Given the description of an element on the screen output the (x, y) to click on. 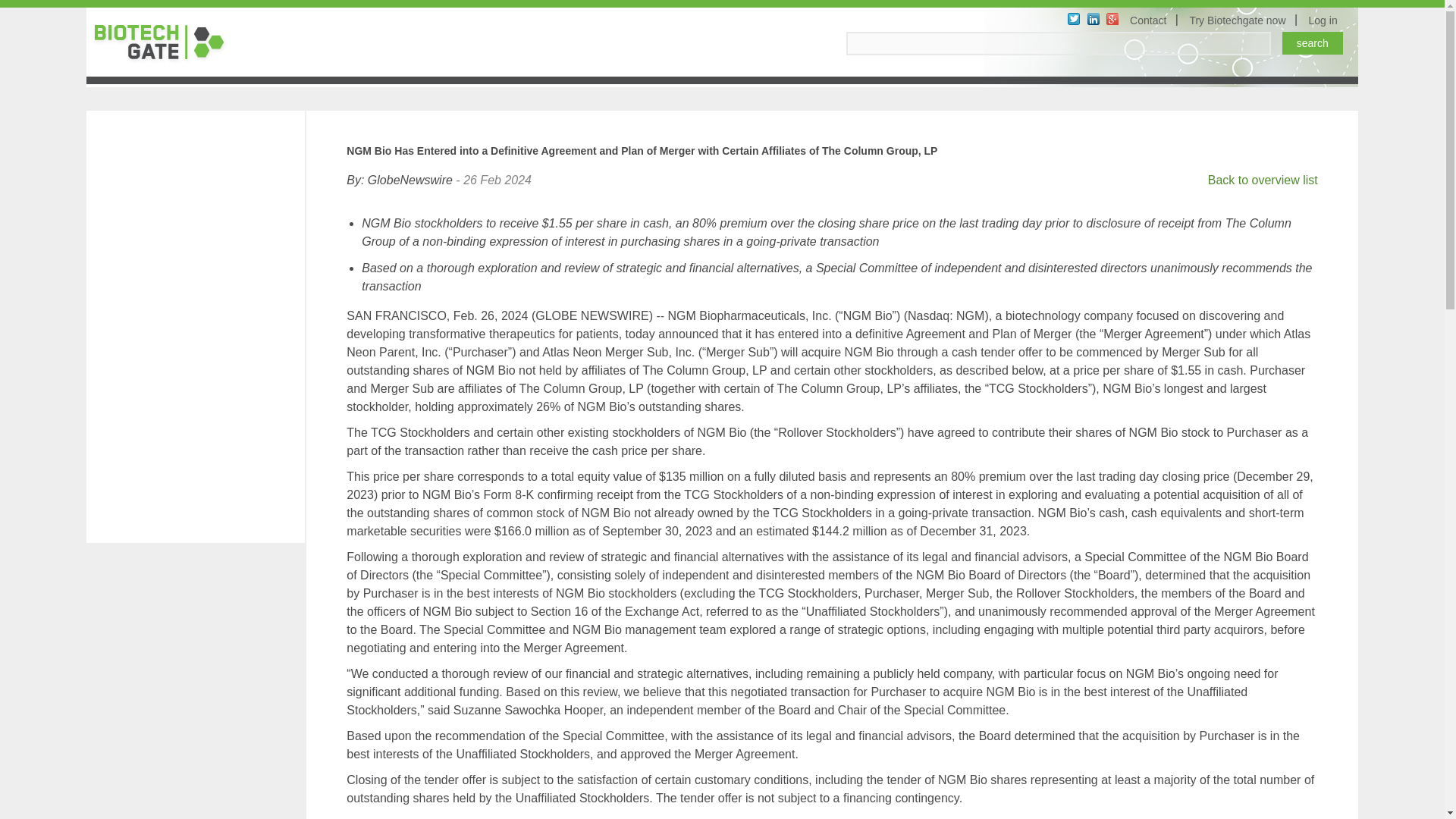
Biotechgate (165, 42)
search (1312, 42)
Log in (1325, 20)
Follow us on Twitter (1073, 19)
search (1312, 42)
Contact (1150, 20)
Follow us on LinkedIn (1093, 19)
Back to overview list (1262, 179)
Try Biotechgate now (1239, 20)
By: GlobeNewswire (399, 179)
